Given the description of an element on the screen output the (x, y) to click on. 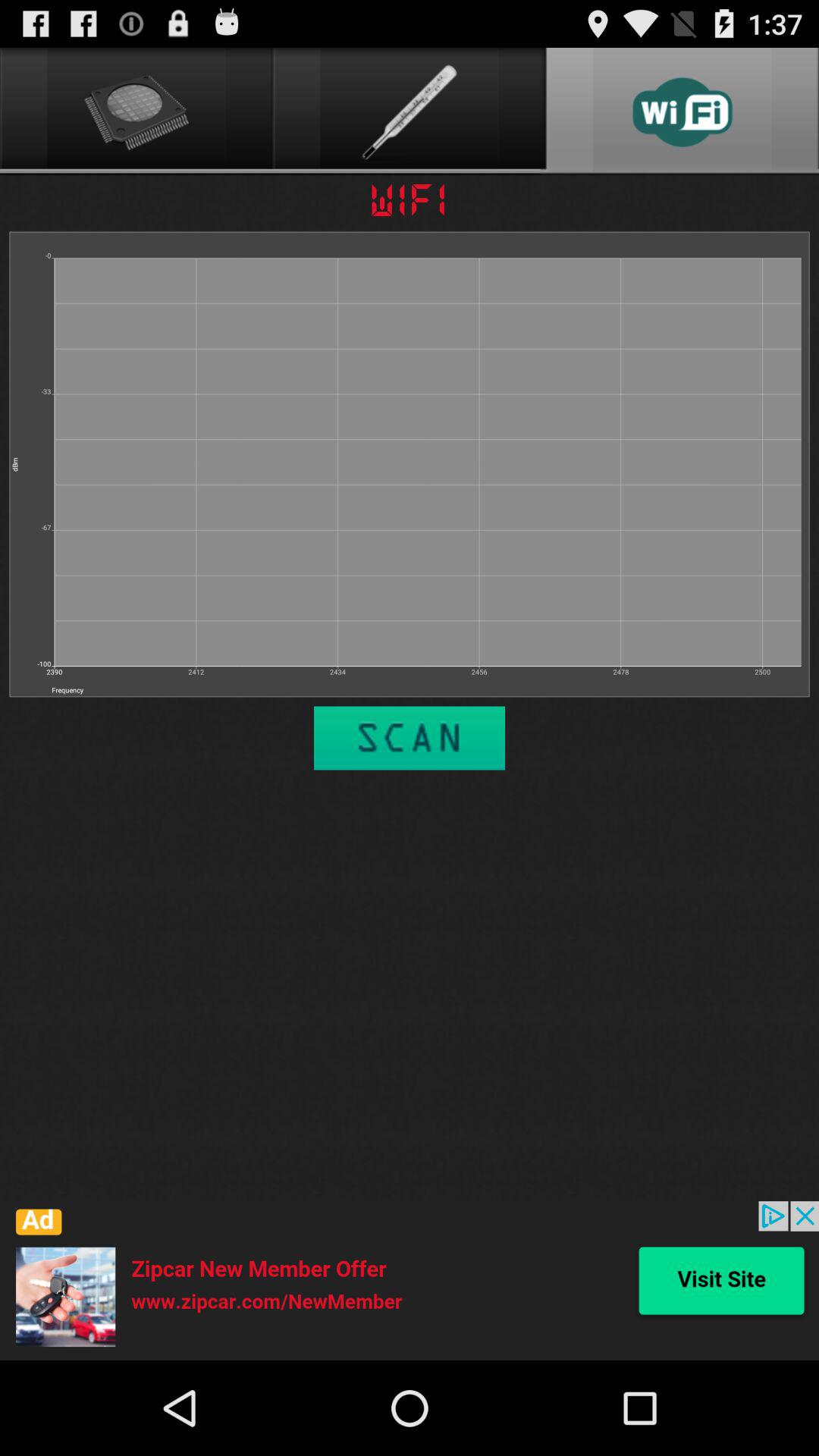
open advertisement (409, 1280)
